Given the description of an element on the screen output the (x, y) to click on. 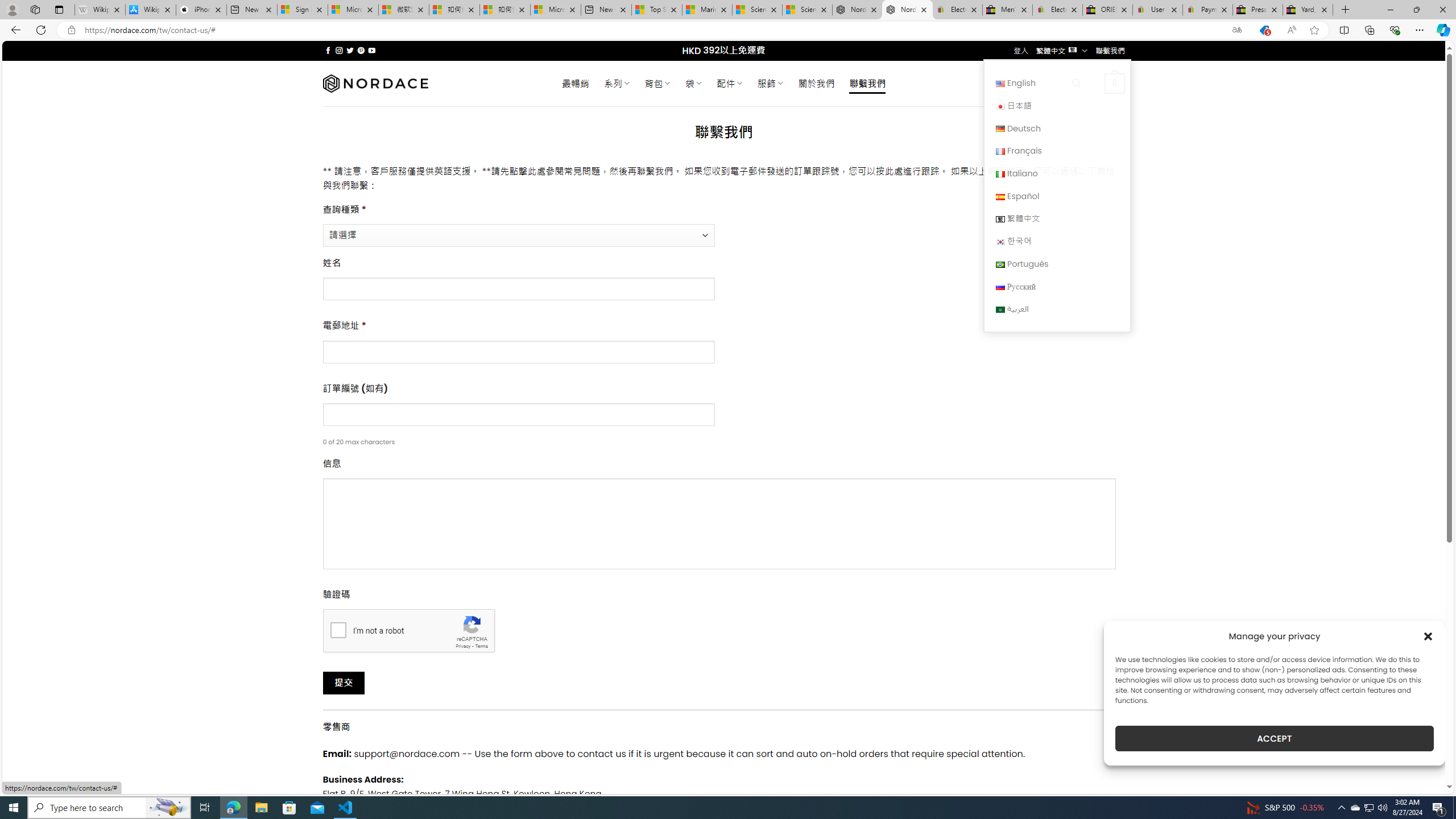
 Deutsch (1056, 128)
  0   (1115, 83)
Payments Terms of Use | eBay.com (1207, 9)
Deutsch Deutsch (1056, 128)
